Given the description of an element on the screen output the (x, y) to click on. 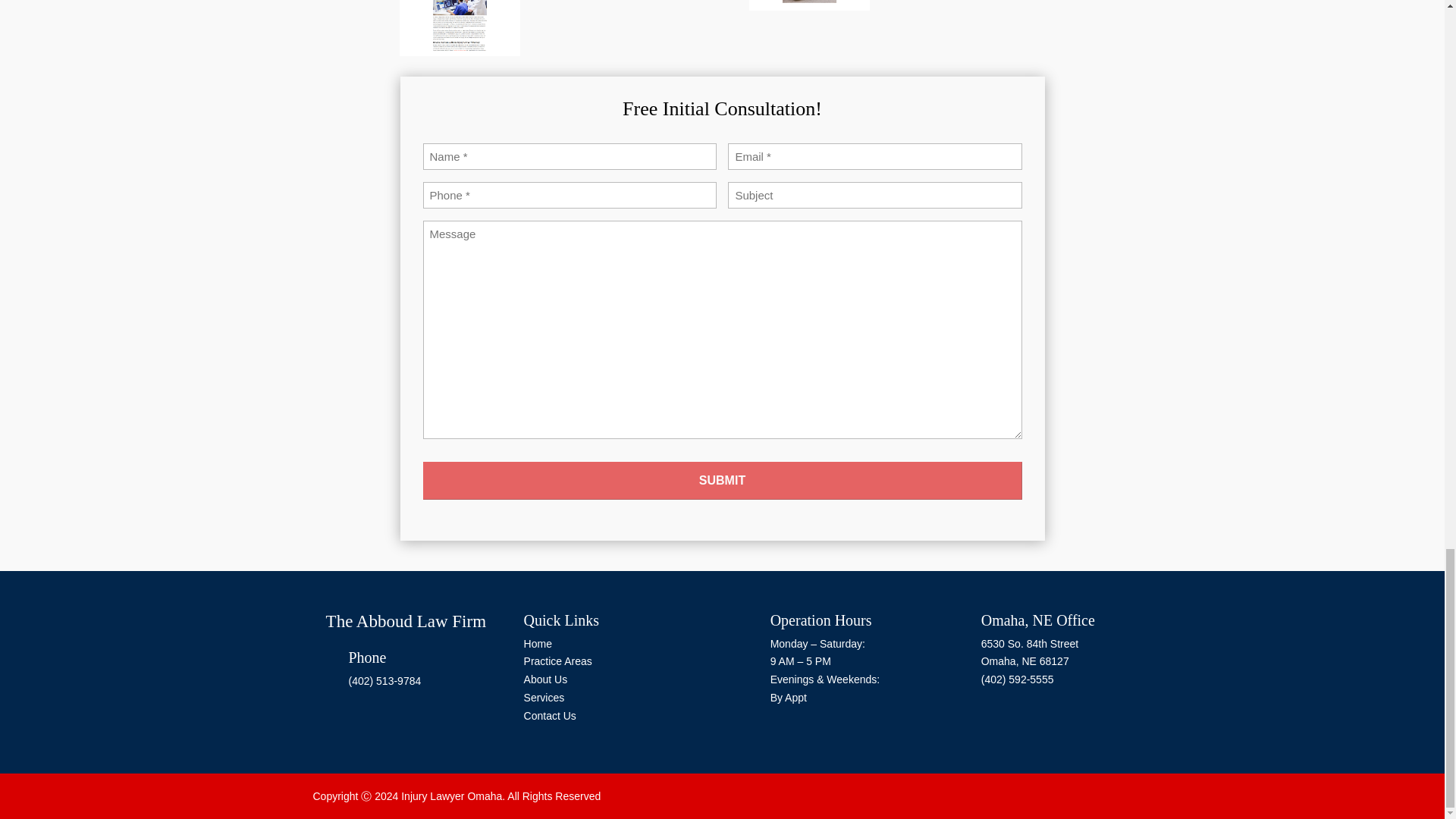
Submit (722, 480)
